Given the description of an element on the screen output the (x, y) to click on. 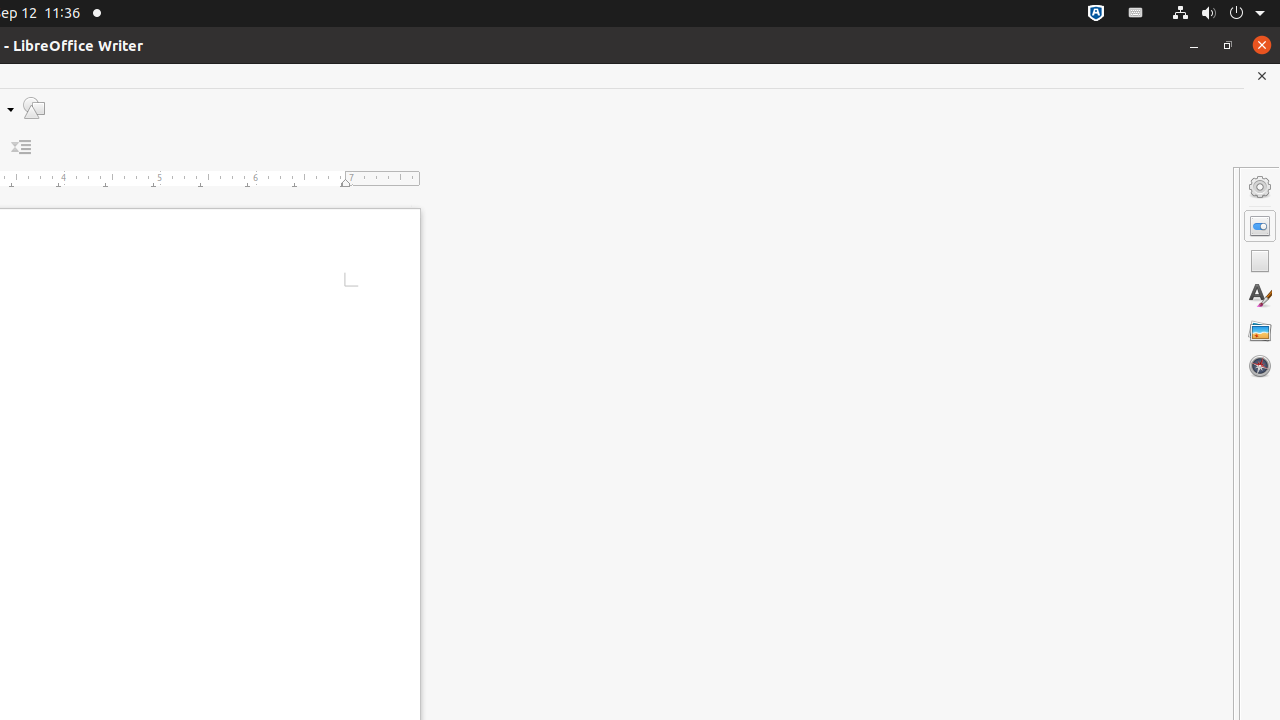
Page Element type: radio-button (1260, 261)
System Element type: menu (1218, 13)
Draw Functions Element type: push-button (33, 108)
Navigator Element type: radio-button (1260, 366)
:1.72/StatusNotifierItem Element type: menu (1096, 13)
